Given the description of an element on the screen output the (x, y) to click on. 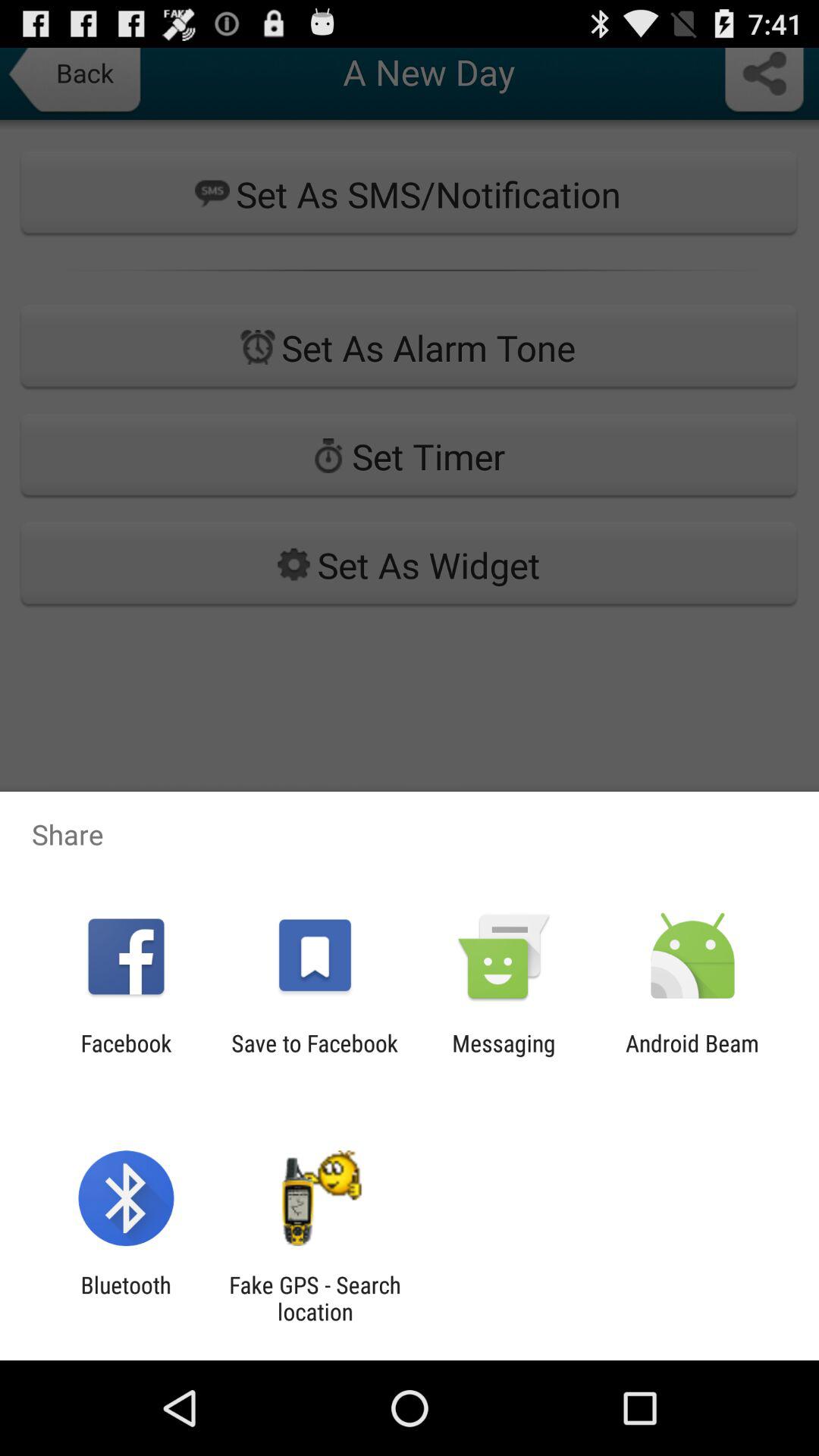
scroll to the bluetooth icon (125, 1298)
